Given the description of an element on the screen output the (x, y) to click on. 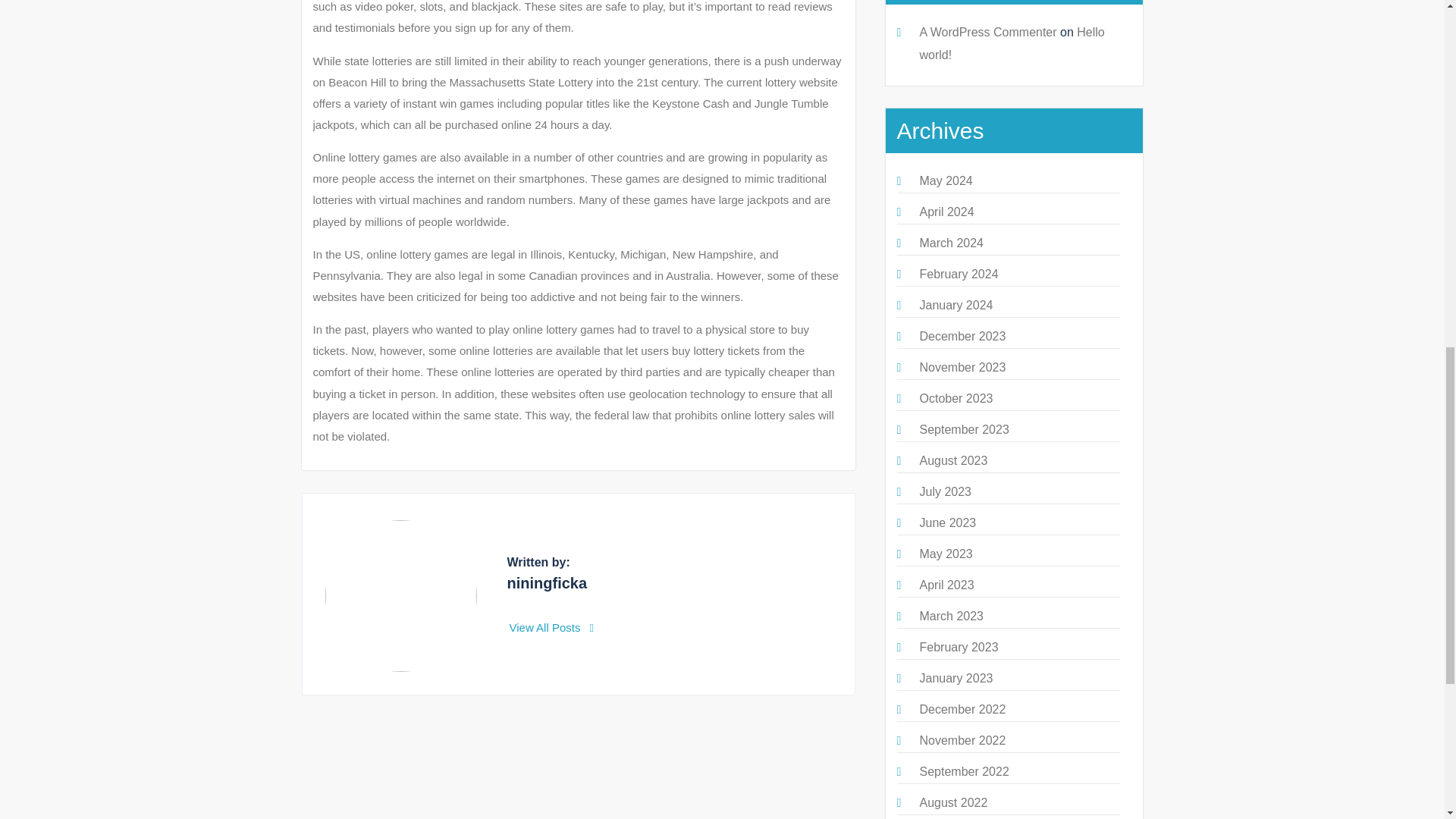
May 2024 (945, 180)
June 2023 (946, 522)
View All Posts (551, 626)
February 2024 (957, 273)
April 2024 (946, 211)
March 2024 (951, 242)
January 2023 (955, 677)
March 2023 (951, 615)
August 2023 (952, 460)
January 2024 (955, 305)
November 2023 (962, 367)
December 2022 (962, 708)
May 2023 (945, 553)
April 2023 (946, 584)
Hello world! (1010, 43)
